Given the description of an element on the screen output the (x, y) to click on. 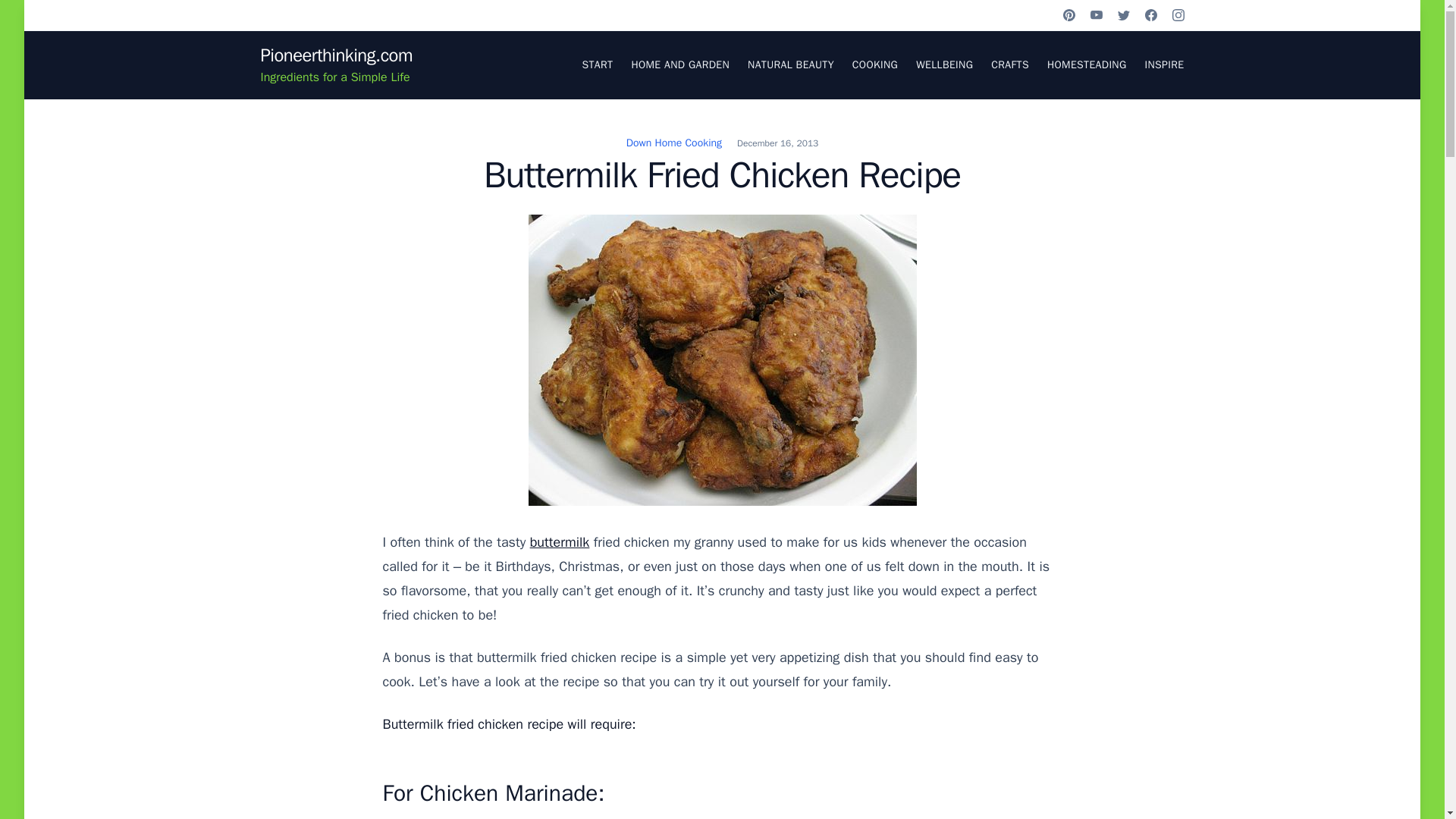
HOME AND GARDEN (679, 64)
COOKING (874, 64)
WELLBEING (943, 64)
START (596, 64)
NATURAL BEAUTY (791, 64)
Pioneerthinking.com (336, 55)
